Given the description of an element on the screen output the (x, y) to click on. 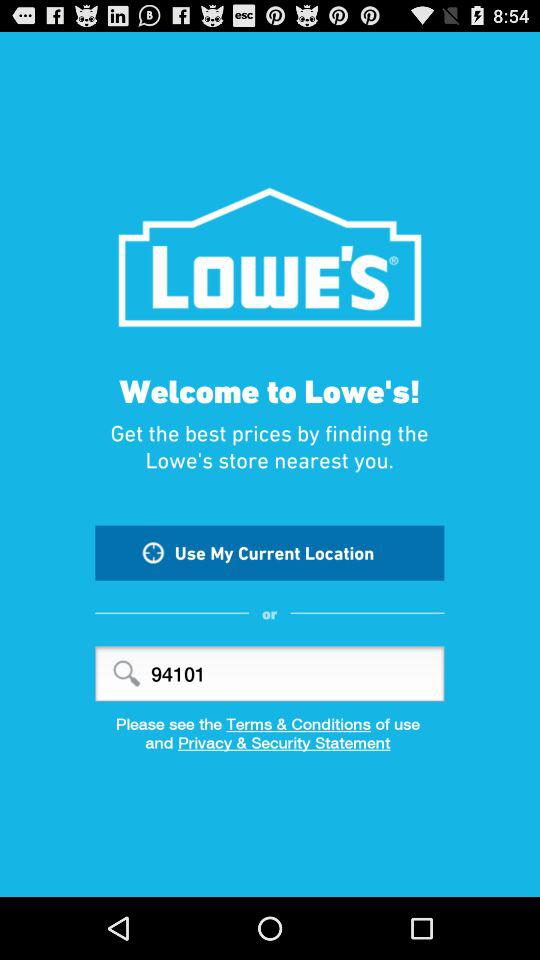
turn on the please see the icon (270, 723)
